Given the description of an element on the screen output the (x, y) to click on. 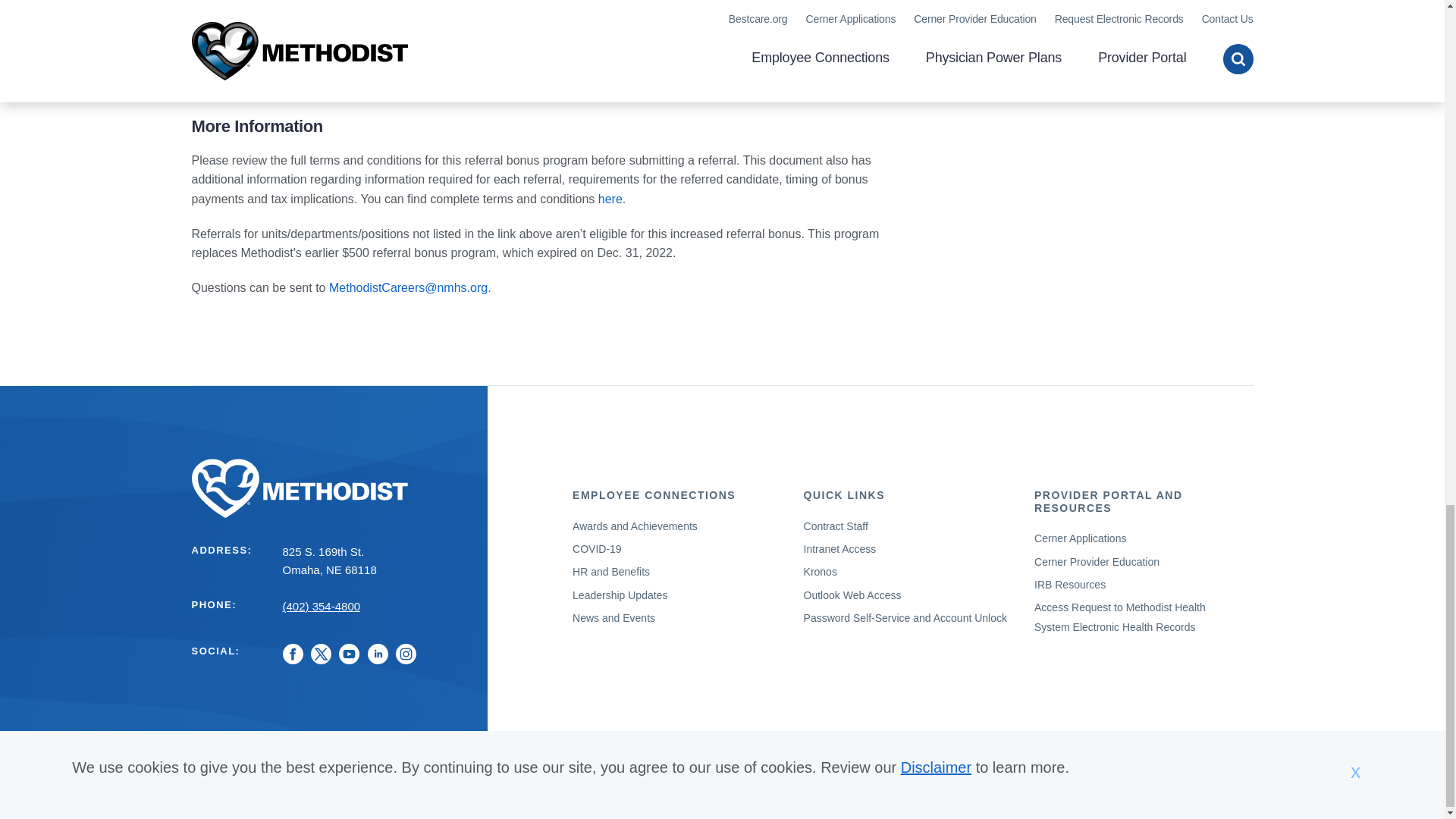
Home (329, 488)
Awards and Achievements (634, 526)
COVID-19 (596, 548)
HR and Benefits (610, 571)
here (610, 198)
EMPLOYEE CONNECTIONS (653, 494)
Methodist Health System (329, 488)
